Given the description of an element on the screen output the (x, y) to click on. 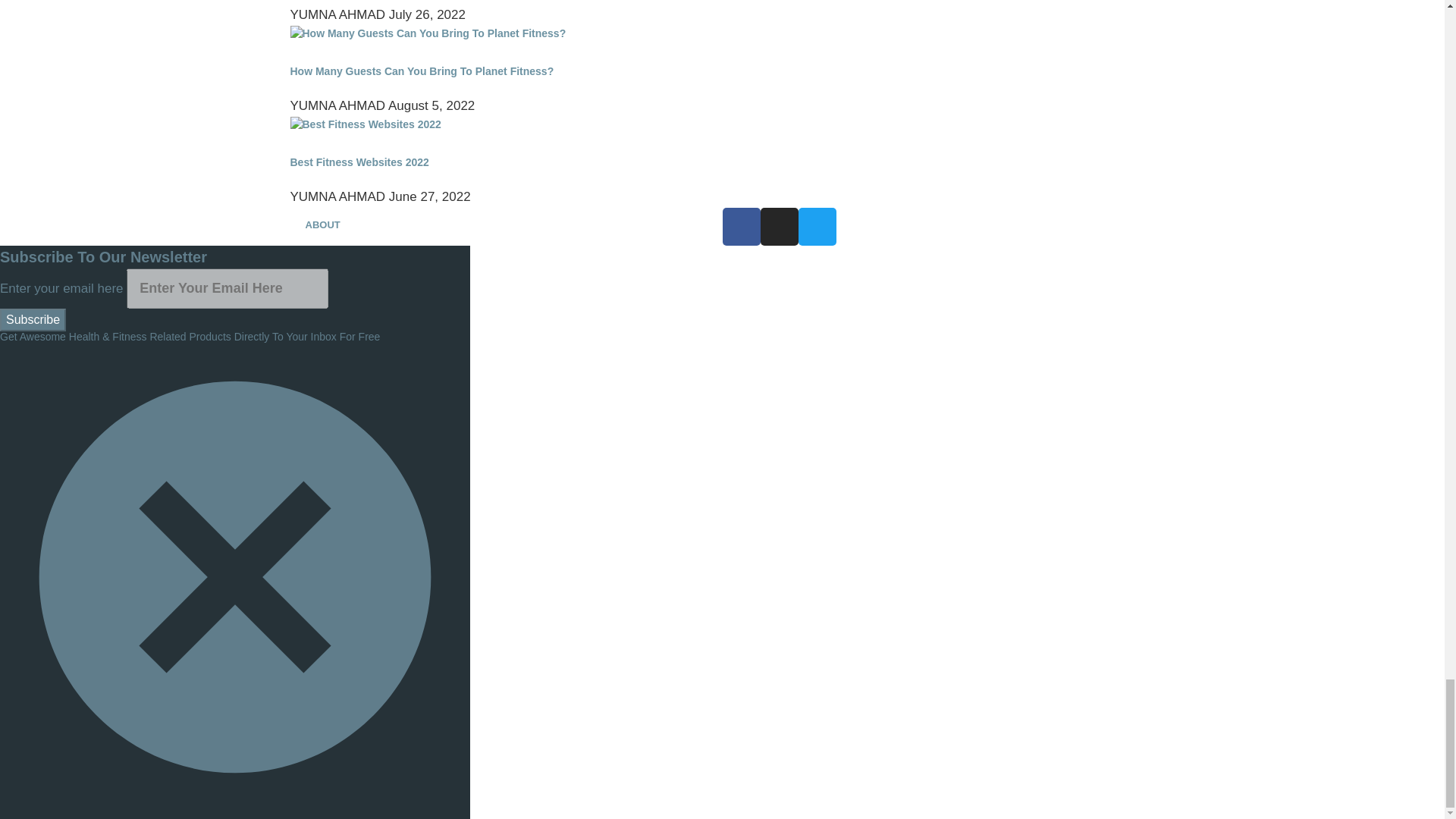
close (235, 807)
Subscribe (32, 319)
